Given the description of an element on the screen output the (x, y) to click on. 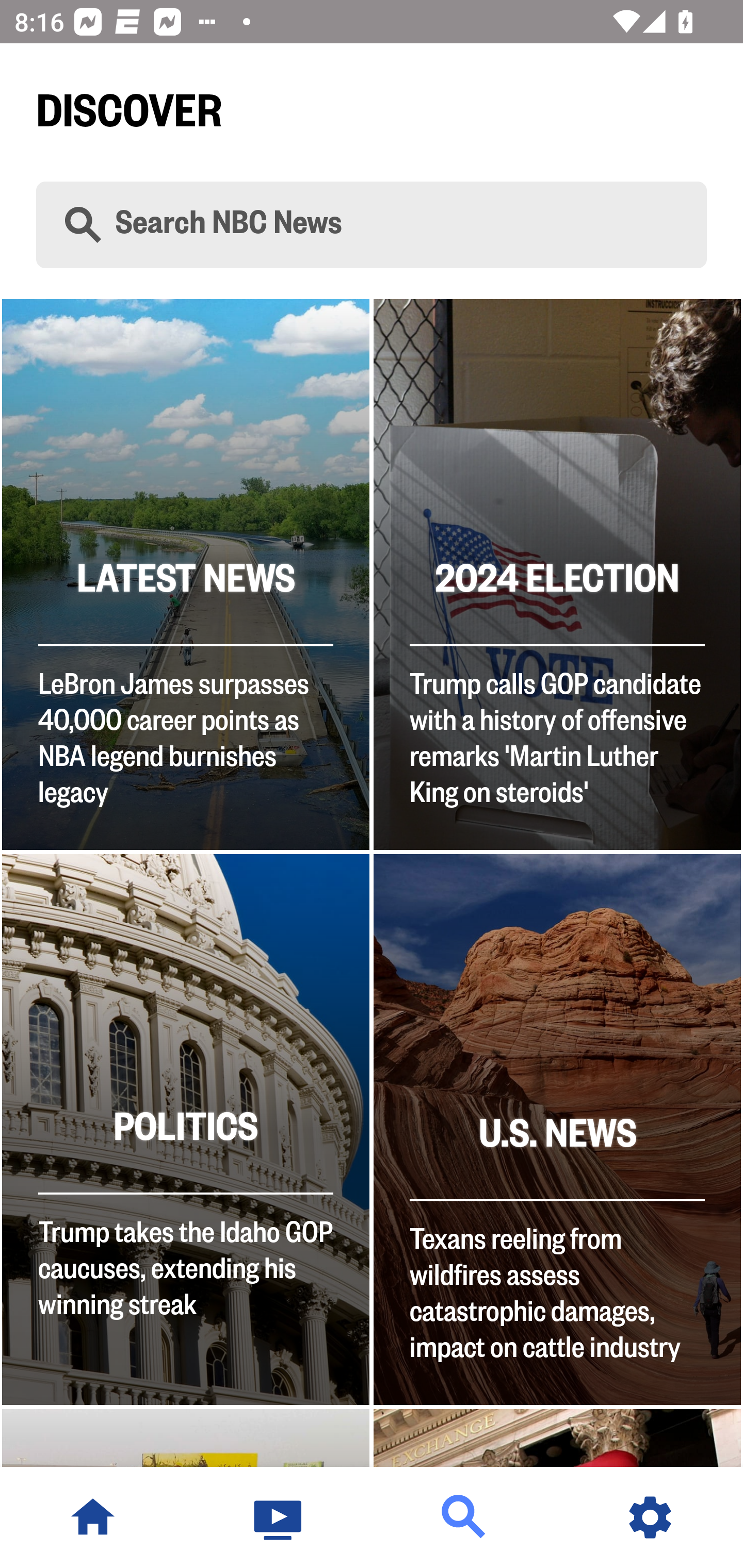
NBC News Home (92, 1517)
Watch (278, 1517)
Settings (650, 1517)
